Given the description of an element on the screen output the (x, y) to click on. 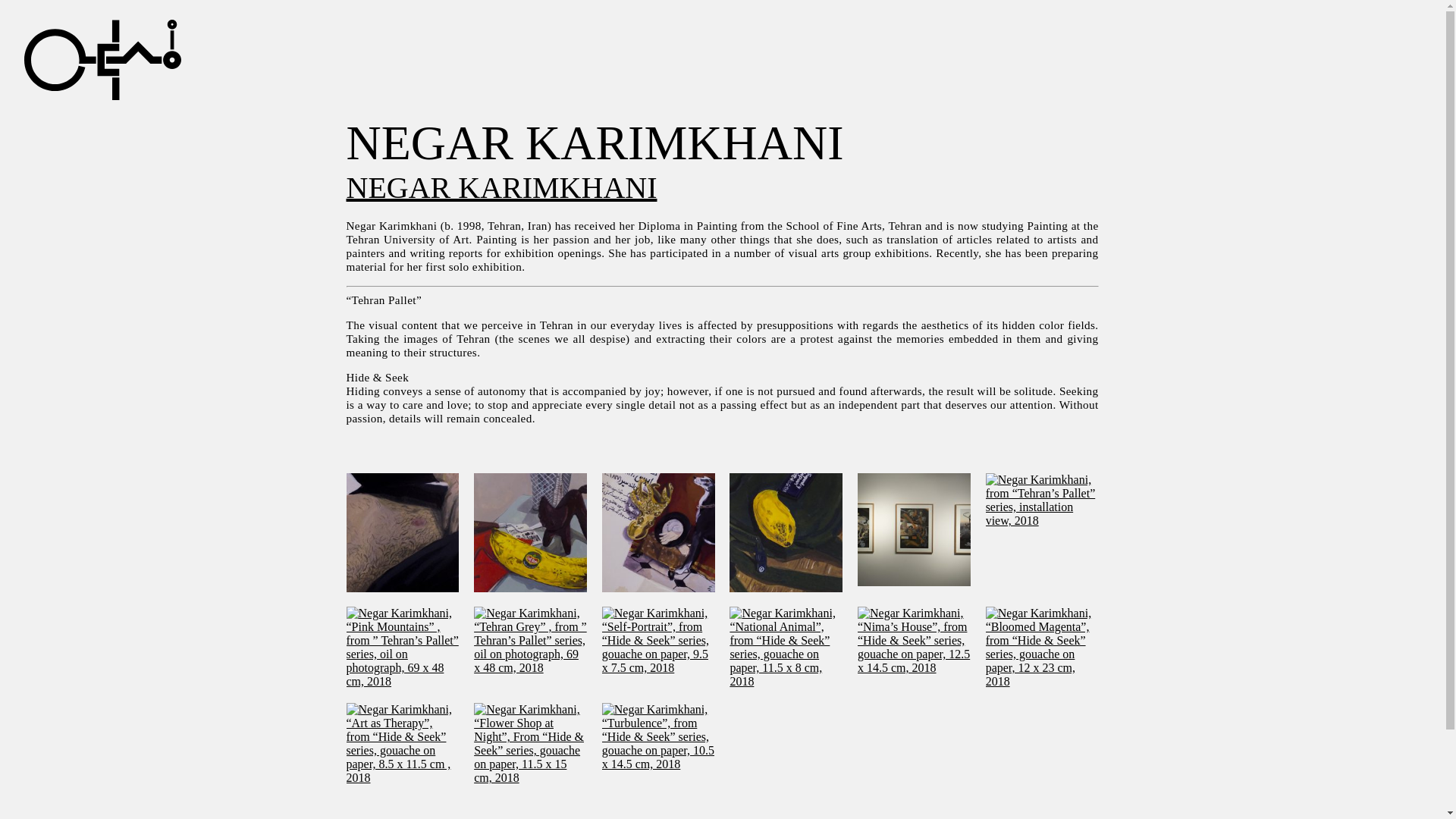
NEGAR KARIMKHANI (501, 186)
